Given the description of an element on the screen output the (x, y) to click on. 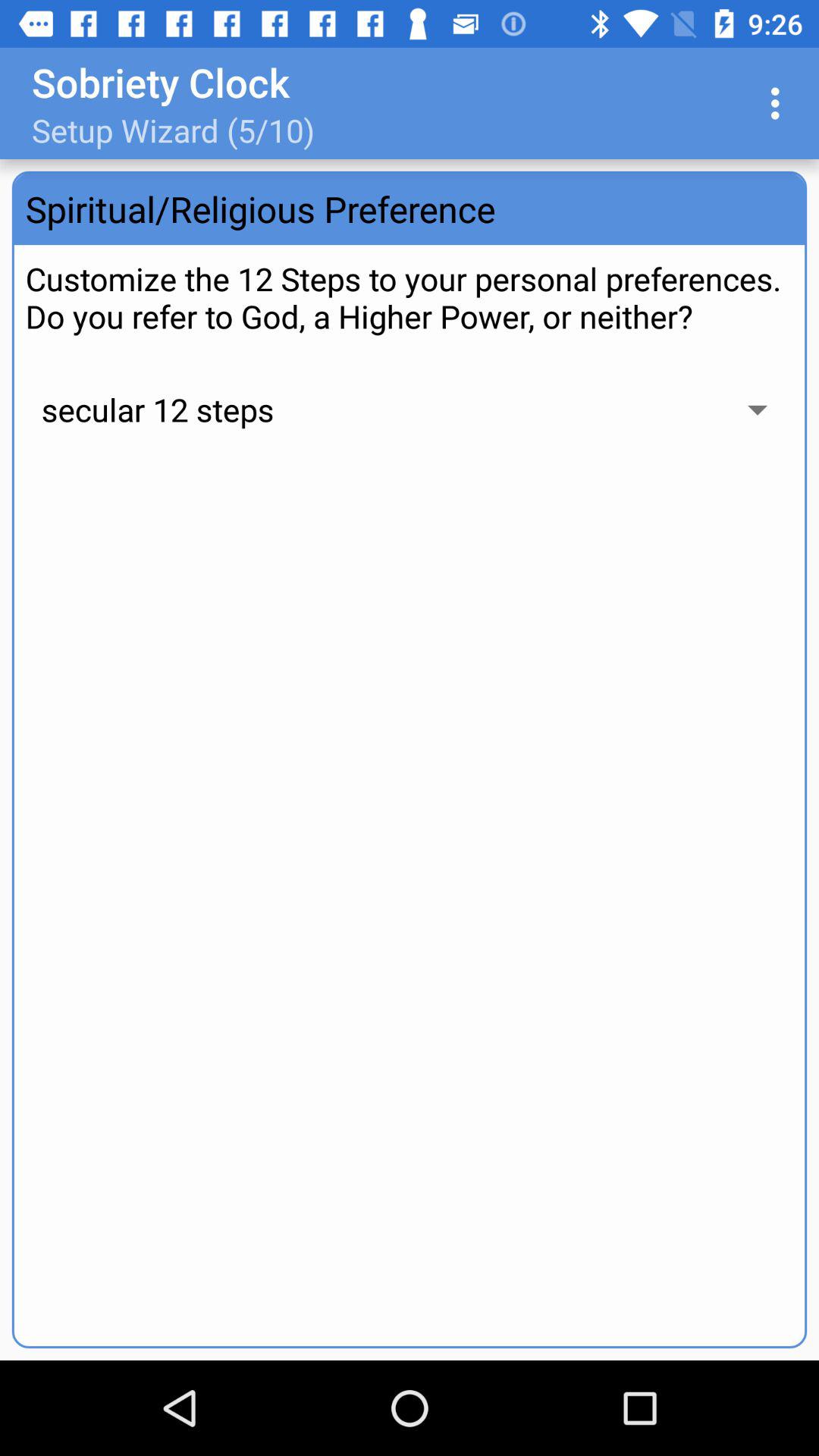
choose app to the right of setup wizard 5 item (779, 103)
